Given the description of an element on the screen output the (x, y) to click on. 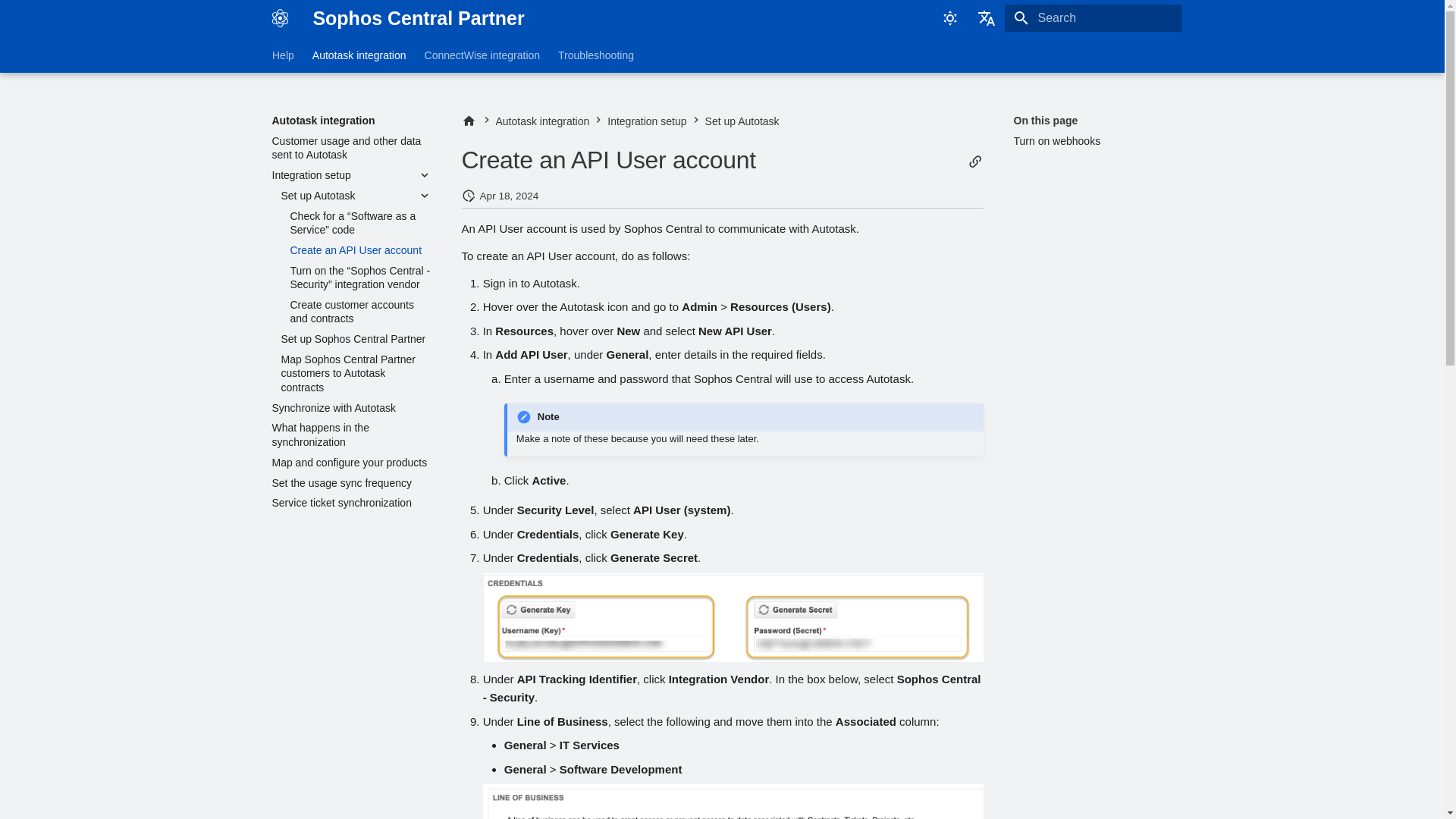
Last update (467, 195)
Turn on webhooks (1092, 141)
Switch to dark mode (948, 18)
Set the usage sync frequency (350, 482)
Map Sophos Central Partner customers to Autotask contracts (355, 372)
Create an API User account (359, 250)
Autotask integration (358, 55)
Sophos Central Partner (469, 121)
Set up Autotask (345, 195)
Autotask integration (350, 120)
